Given the description of an element on the screen output the (x, y) to click on. 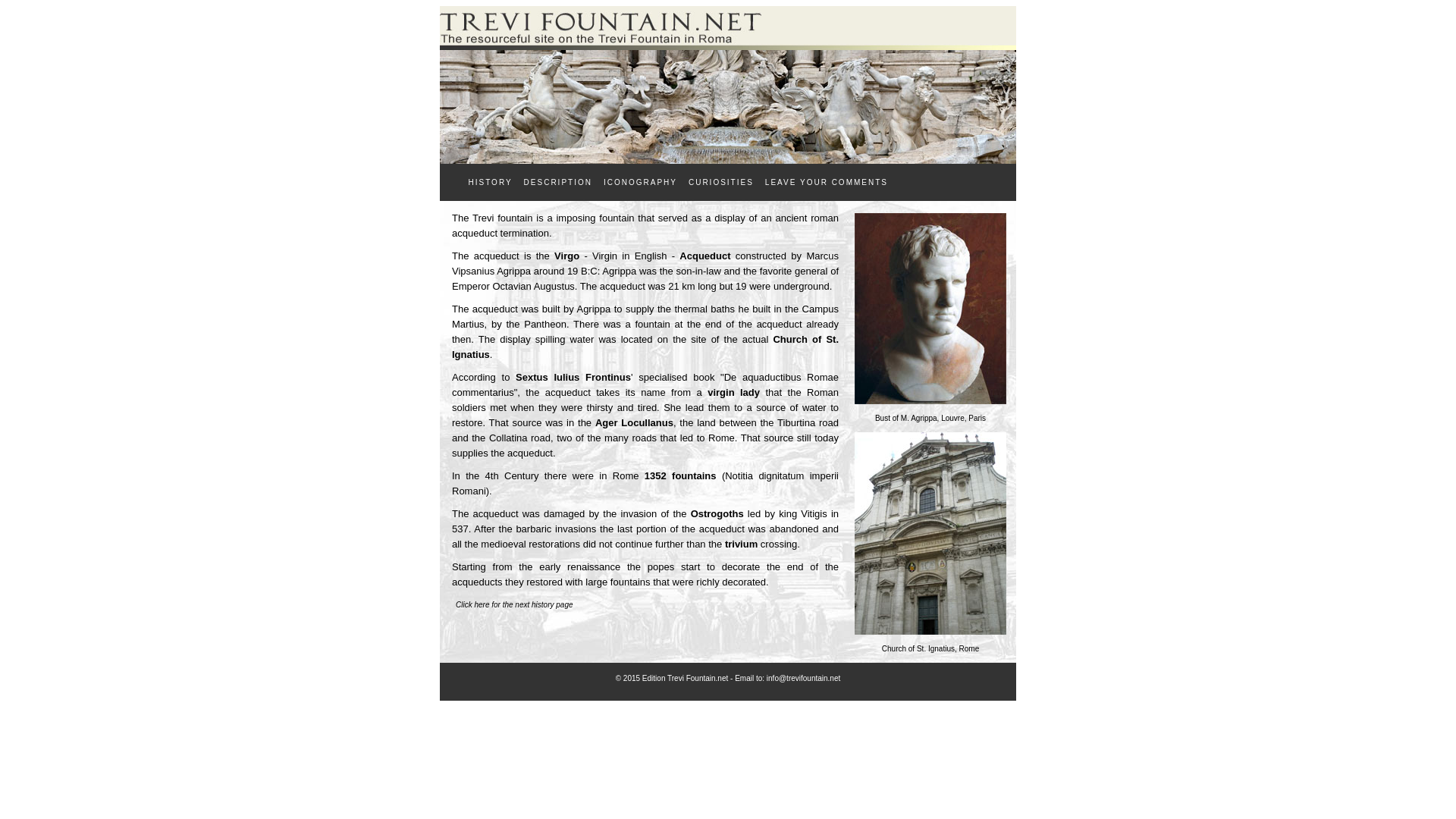
LEAVE YOUR COMMENTS (825, 182)
Click here for the next history page (514, 604)
DESCRIPTION (557, 182)
HISTORY (490, 182)
ICONOGRAPHY (639, 182)
CURIOSITIES (720, 182)
